Given the description of an element on the screen output the (x, y) to click on. 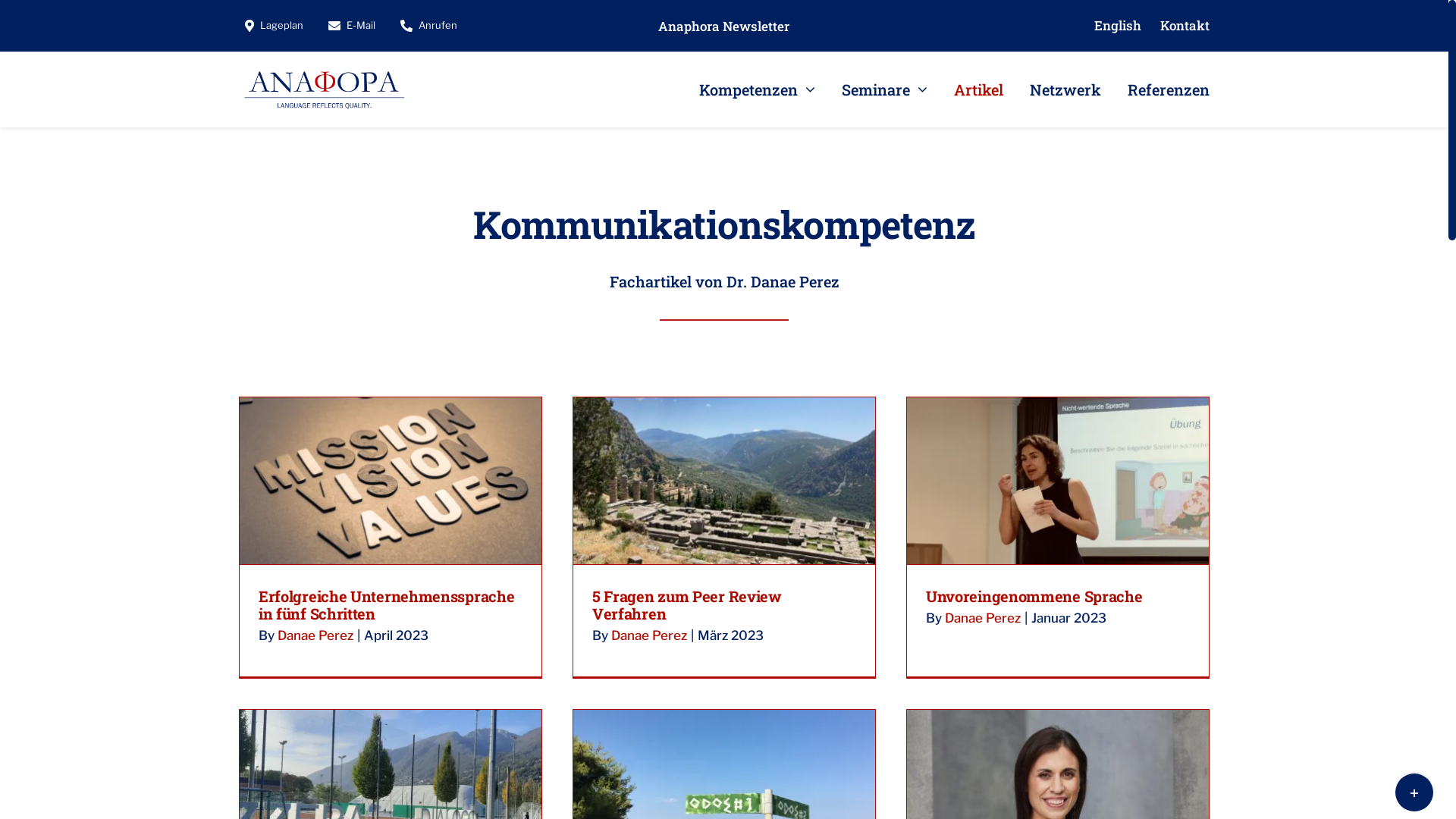
Lageplan Element type: text (270, 25)
Referenzen Element type: text (1168, 89)
Kontakt Element type: text (1184, 25)
Anrufen Element type: text (425, 25)
Kompetenzen Element type: text (757, 89)
Artikel Element type: text (978, 89)
Unvoreingenommene Sprache Element type: text (1033, 595)
Danae Perez Element type: text (315, 635)
Netzwerk Element type: text (1065, 89)
Danae Perez Element type: text (982, 617)
Toggle Sliding Bar Area Element type: text (1414, 792)
Seminare Element type: text (884, 89)
Anaphora Newsletter Element type: text (723, 25)
Danae Perez Element type: text (649, 635)
5 Fragen zum Peer Review Verfahren Element type: text (686, 604)
English Element type: text (1117, 25)
E-Mail Element type: text (348, 25)
